Given the description of an element on the screen output the (x, y) to click on. 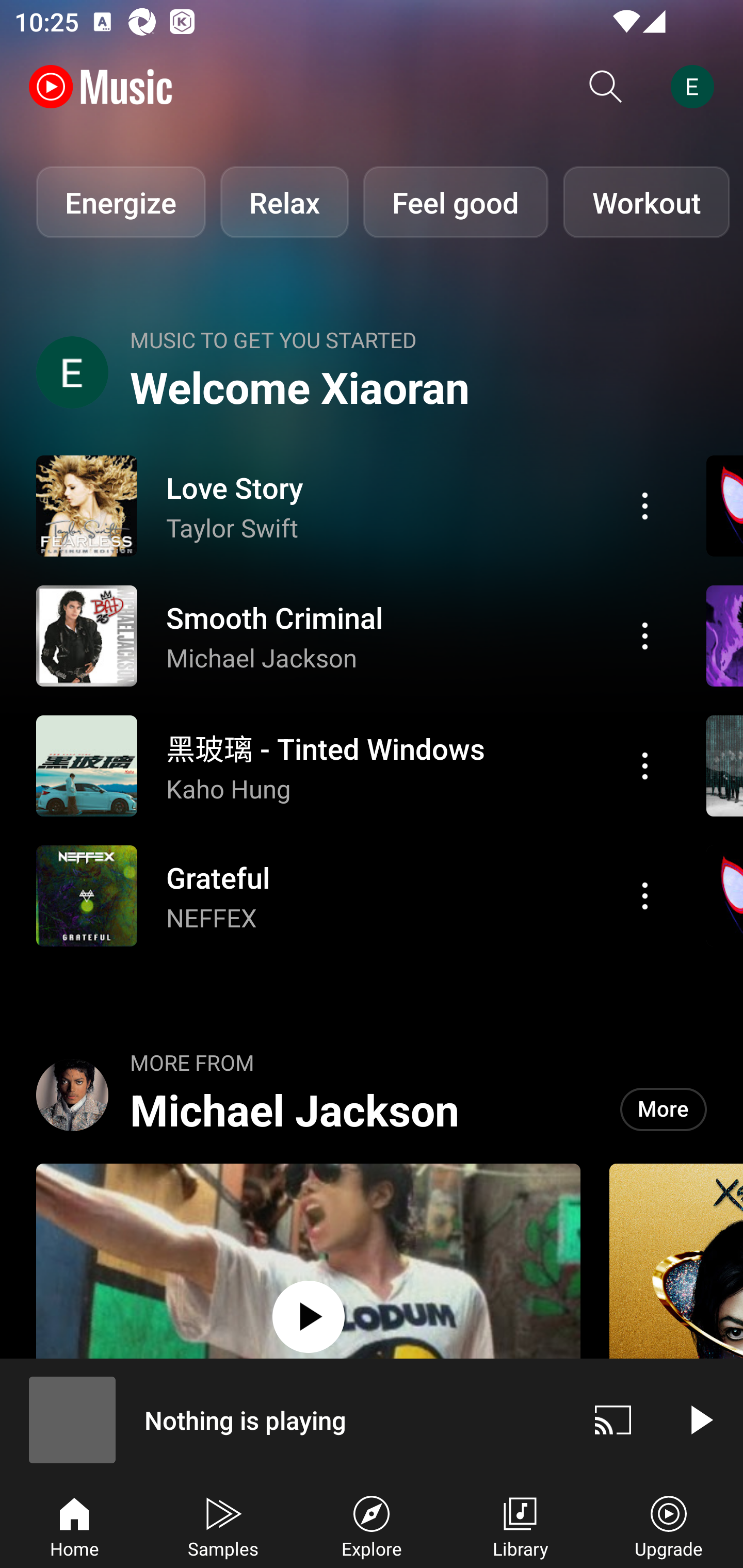
Search (605, 86)
Account (696, 86)
Action menu (349, 505)
Action menu (644, 505)
Action menu (349, 635)
Action menu (644, 635)
Action menu (349, 765)
Action menu (644, 765)
Action menu (349, 896)
Action menu (644, 896)
Nothing is playing (284, 1419)
Cast. Disconnected (612, 1419)
Play video (699, 1419)
Home (74, 1524)
Samples (222, 1524)
Explore (371, 1524)
Library (519, 1524)
Upgrade (668, 1524)
